Given the description of an element on the screen output the (x, y) to click on. 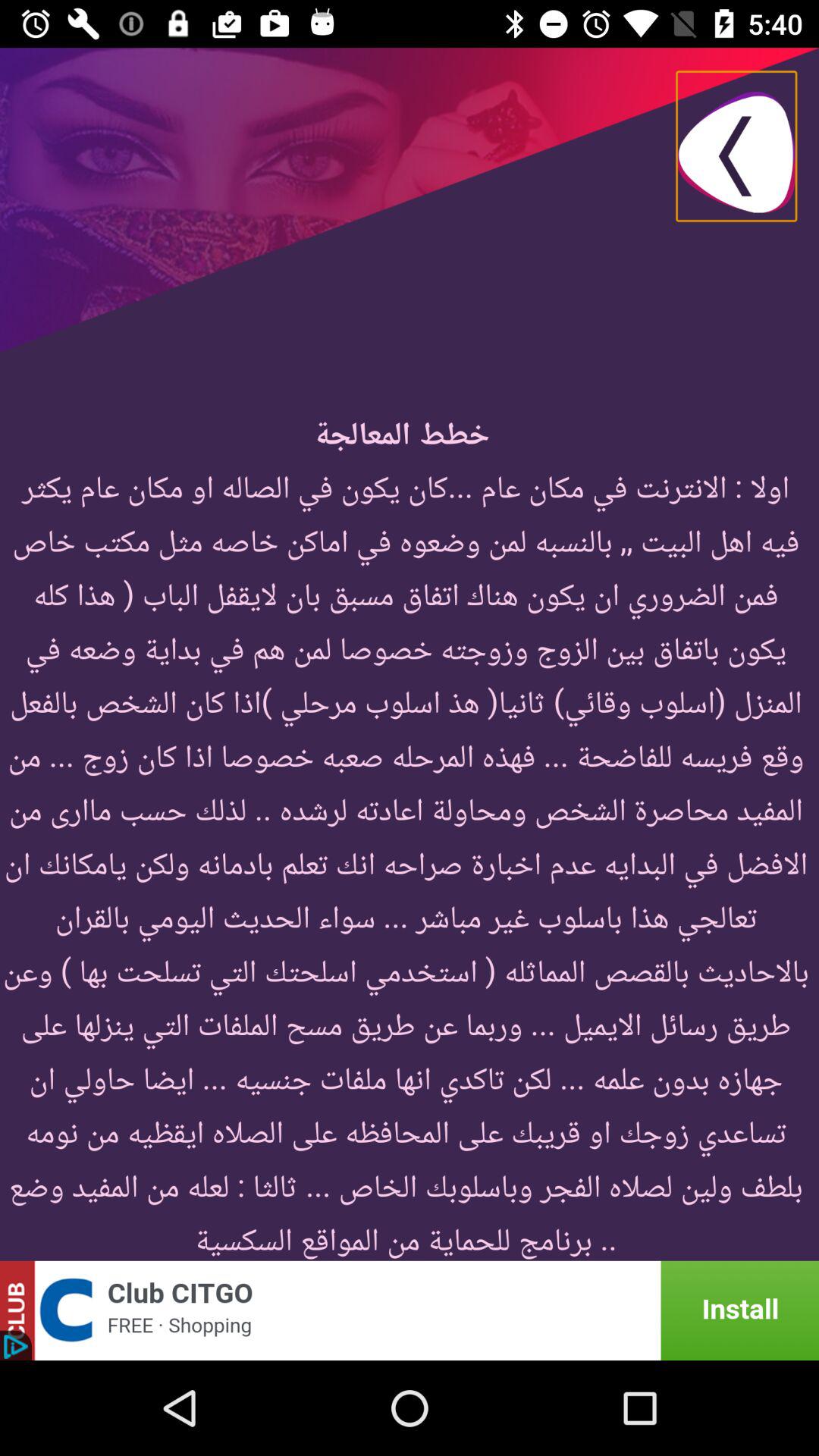
advatisdment (409, 1310)
